Given the description of an element on the screen output the (x, y) to click on. 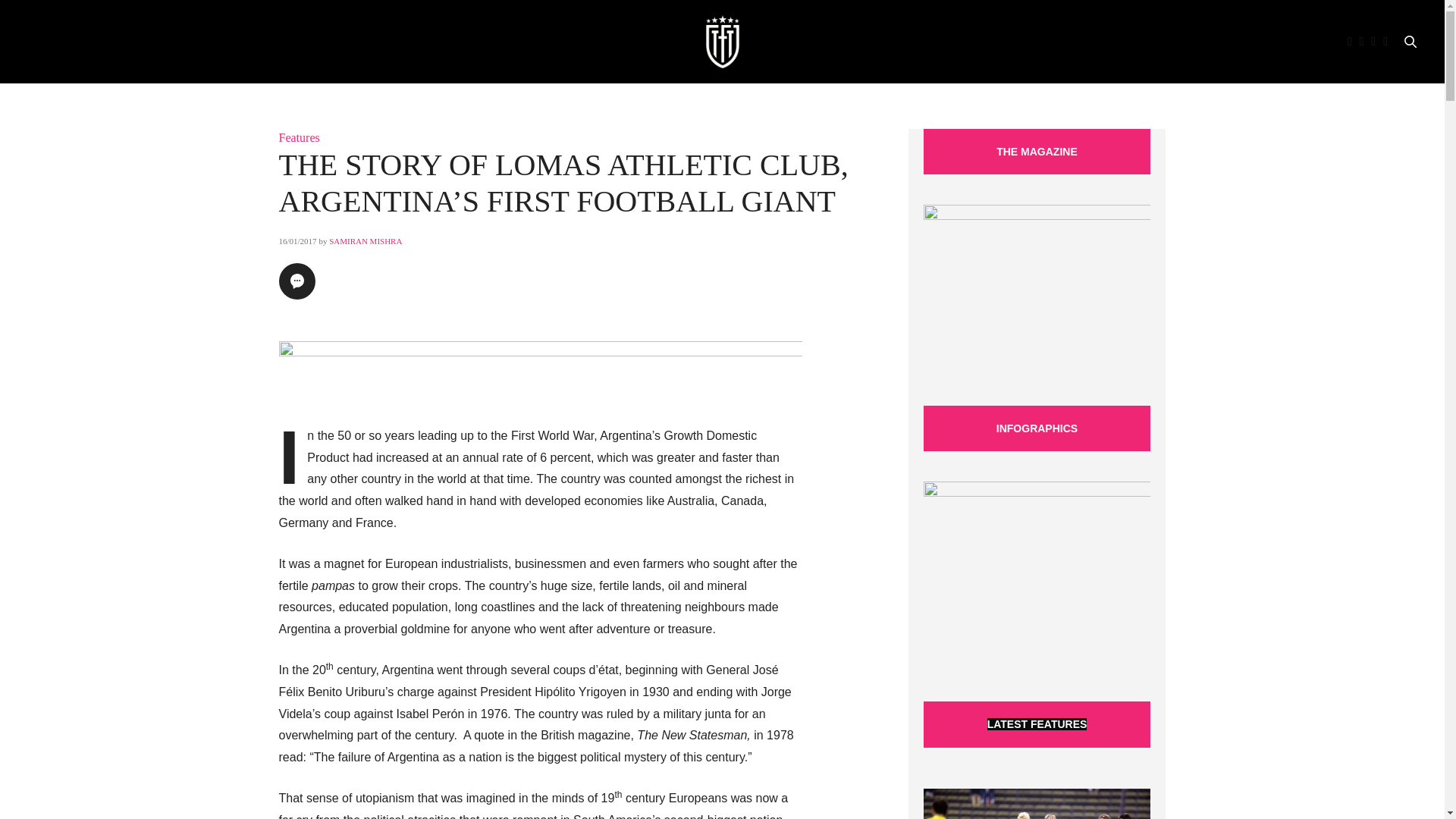
SAMIRAN MISHRA (365, 240)
Features (299, 137)
Posts by Samiran Mishra (365, 240)
